Given the description of an element on the screen output the (x, y) to click on. 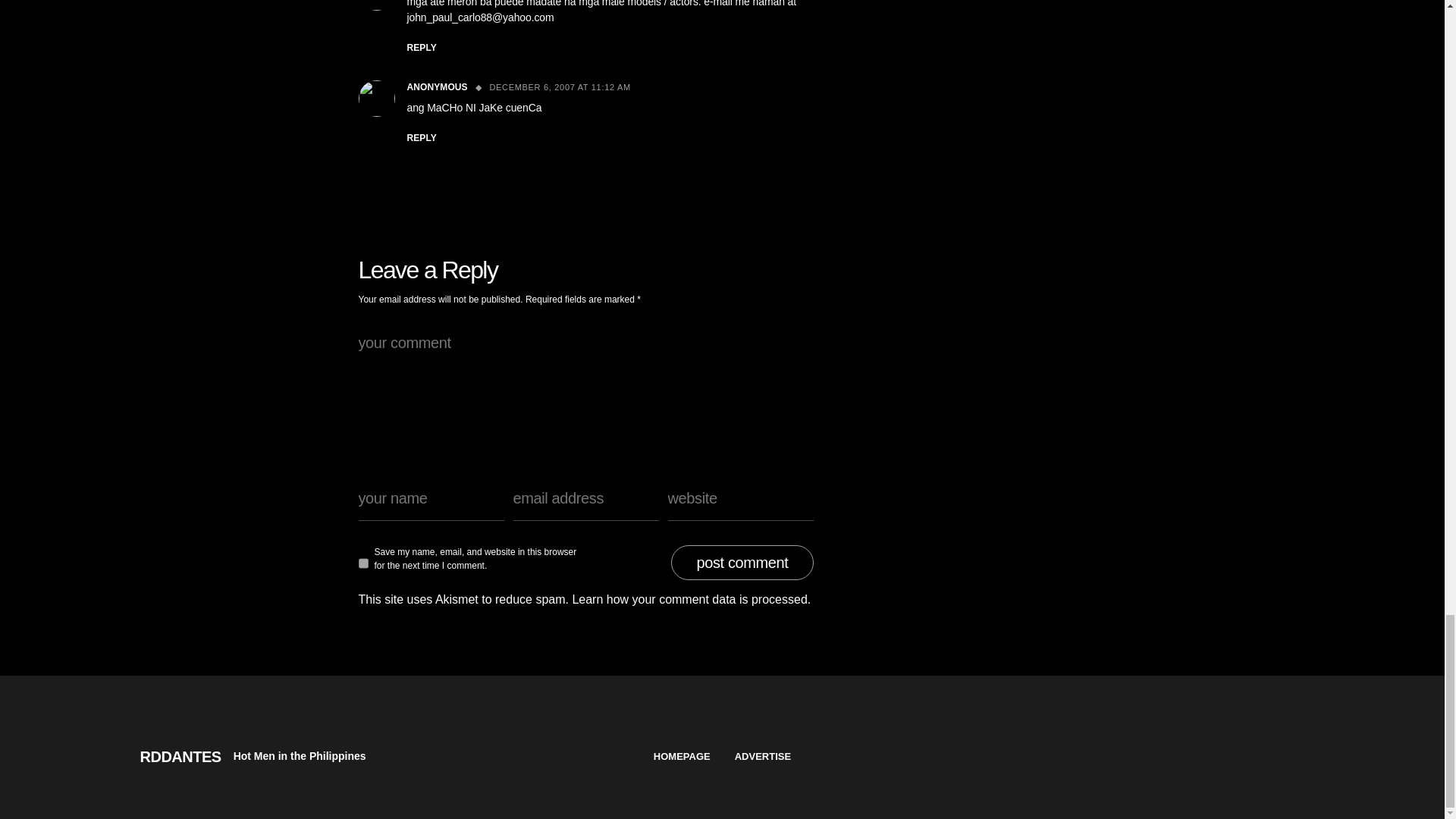
Post Comment (741, 562)
